Given the description of an element on the screen output the (x, y) to click on. 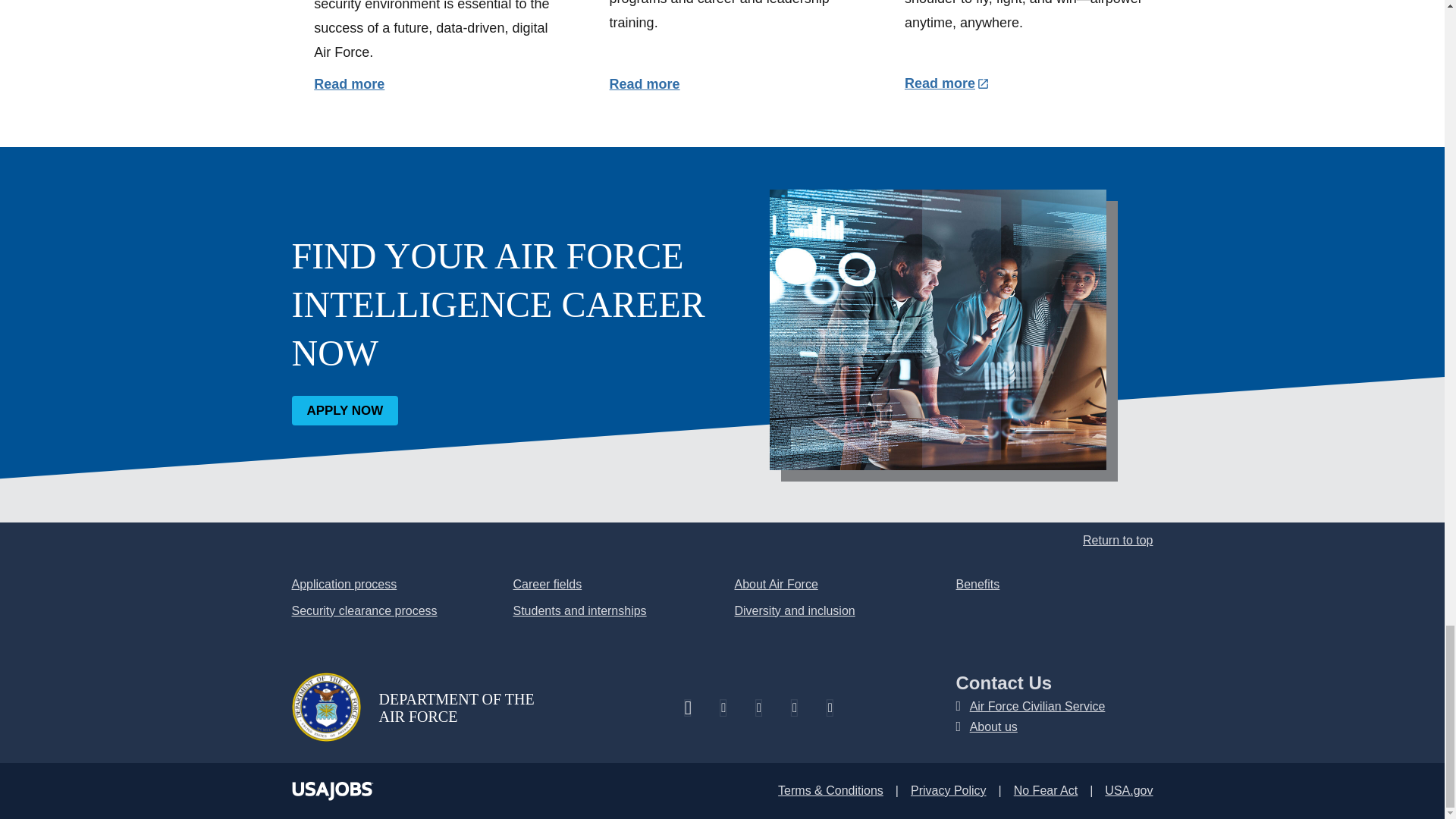
Return to top (1118, 540)
Read more (644, 83)
APPLY NOW (344, 410)
Diversity and inclusion (793, 610)
Career fields (546, 584)
Read more (947, 83)
About Air Force (774, 584)
Air Force Civilian Service (1037, 706)
Students and internships (579, 610)
Benefits (976, 584)
